Given the description of an element on the screen output the (x, y) to click on. 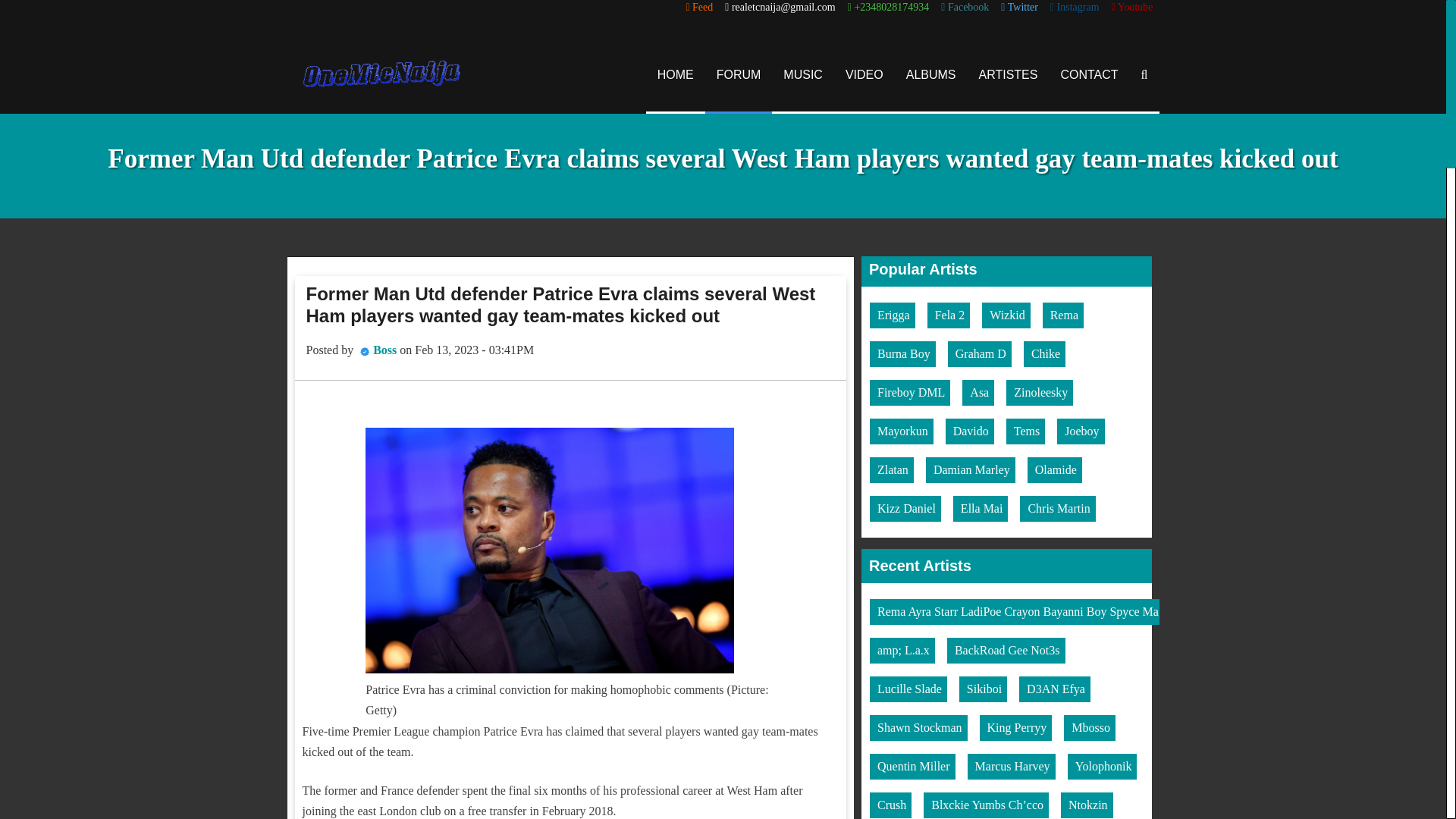
Feed (699, 7)
ARTISTES (1008, 74)
Twitter (1019, 7)
Boss (384, 349)
Facebook (964, 7)
CONTACT (1088, 74)
Instagram (1074, 7)
ALBUMS (931, 74)
Youtube (1132, 7)
FORUM (738, 74)
